Given the description of an element on the screen output the (x, y) to click on. 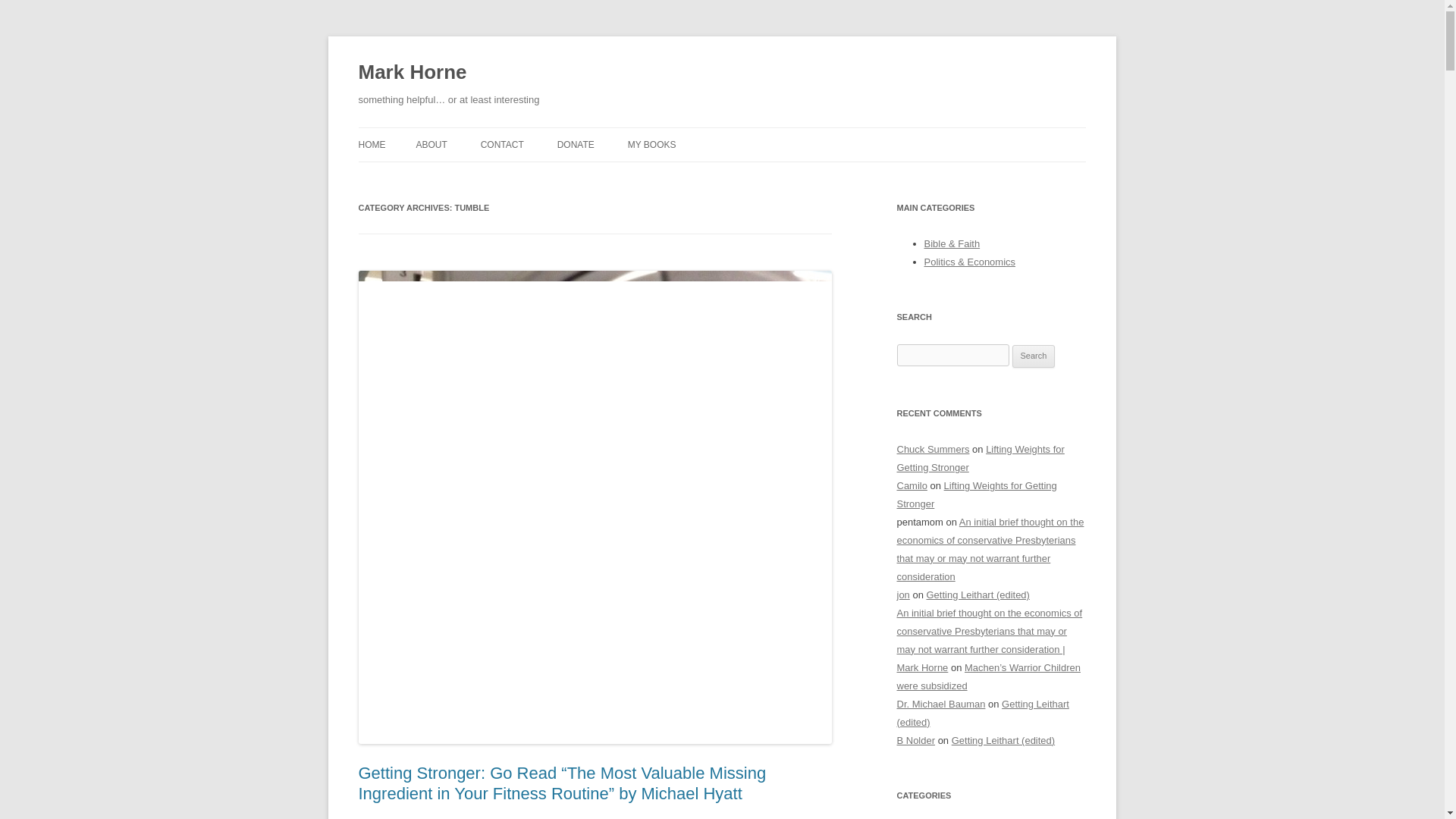
HOME (371, 144)
MY BOOKS (652, 144)
CONTACT (502, 144)
Search (1033, 355)
Mark Horne (411, 72)
ABOUT (430, 144)
DONATE (575, 144)
